Given the description of an element on the screen output the (x, y) to click on. 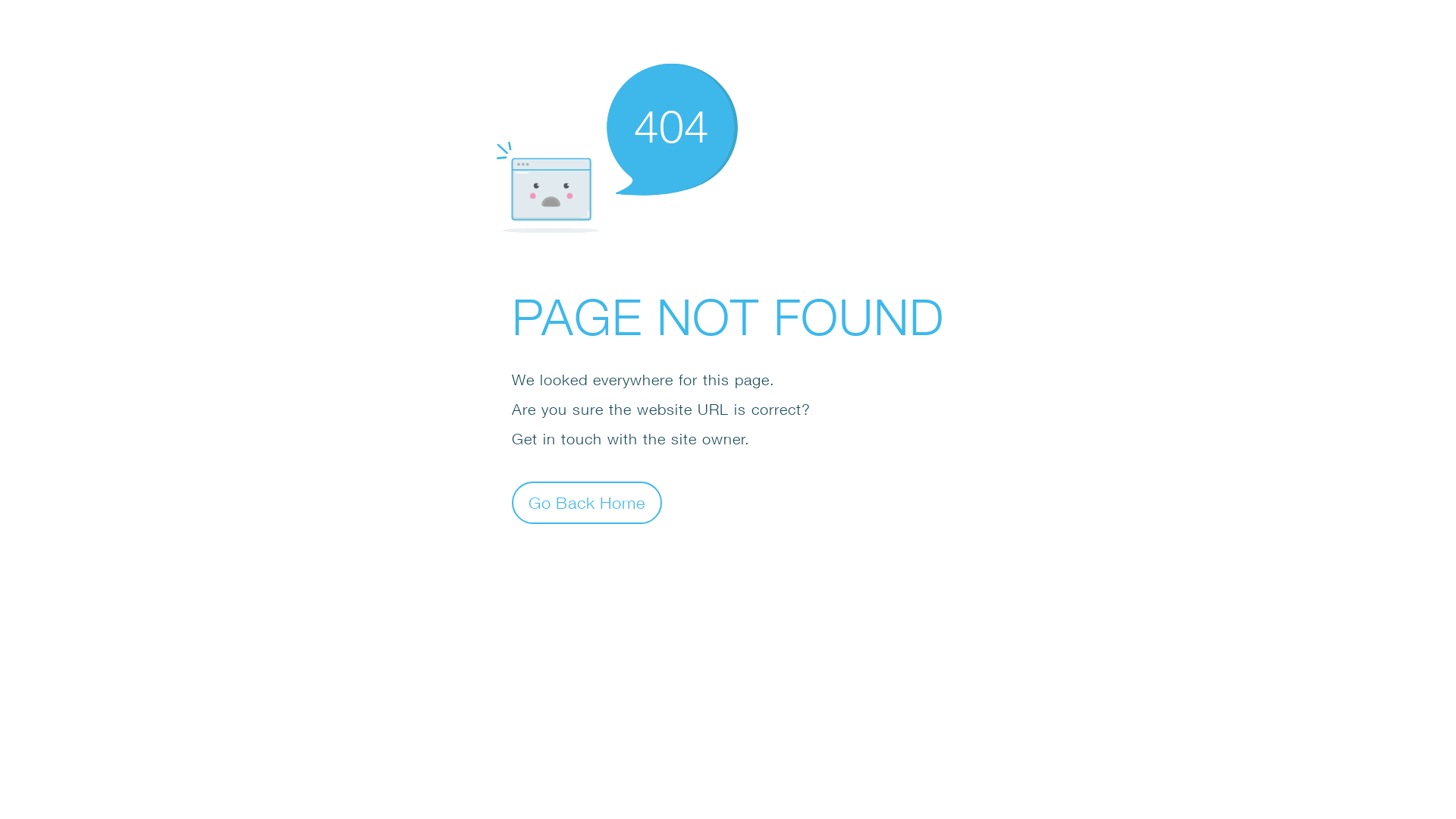
Go Back Home Element type: text (586, 502)
